Given the description of an element on the screen output the (x, y) to click on. 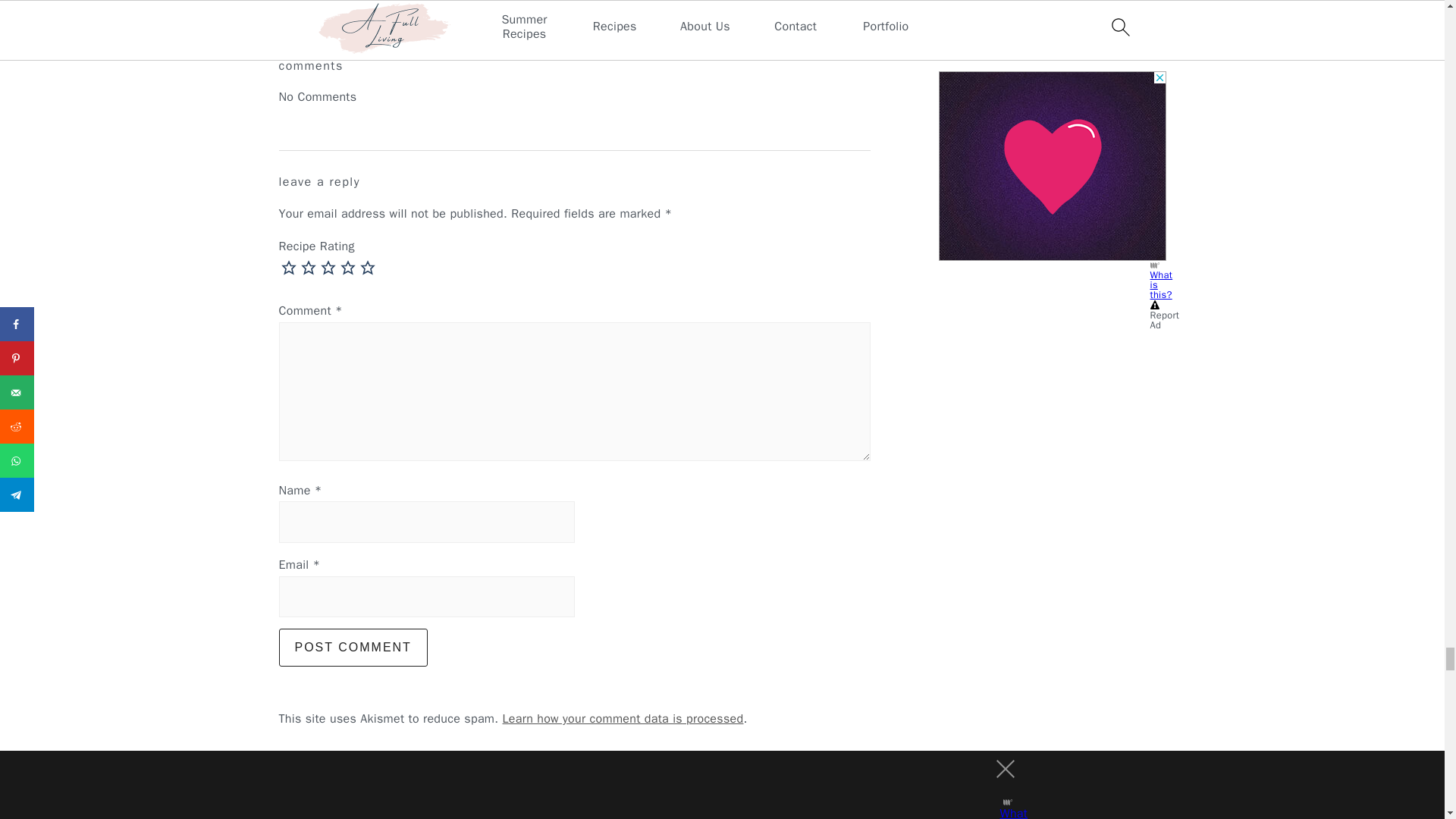
Post Comment (353, 647)
